Given the description of an element on the screen output the (x, y) to click on. 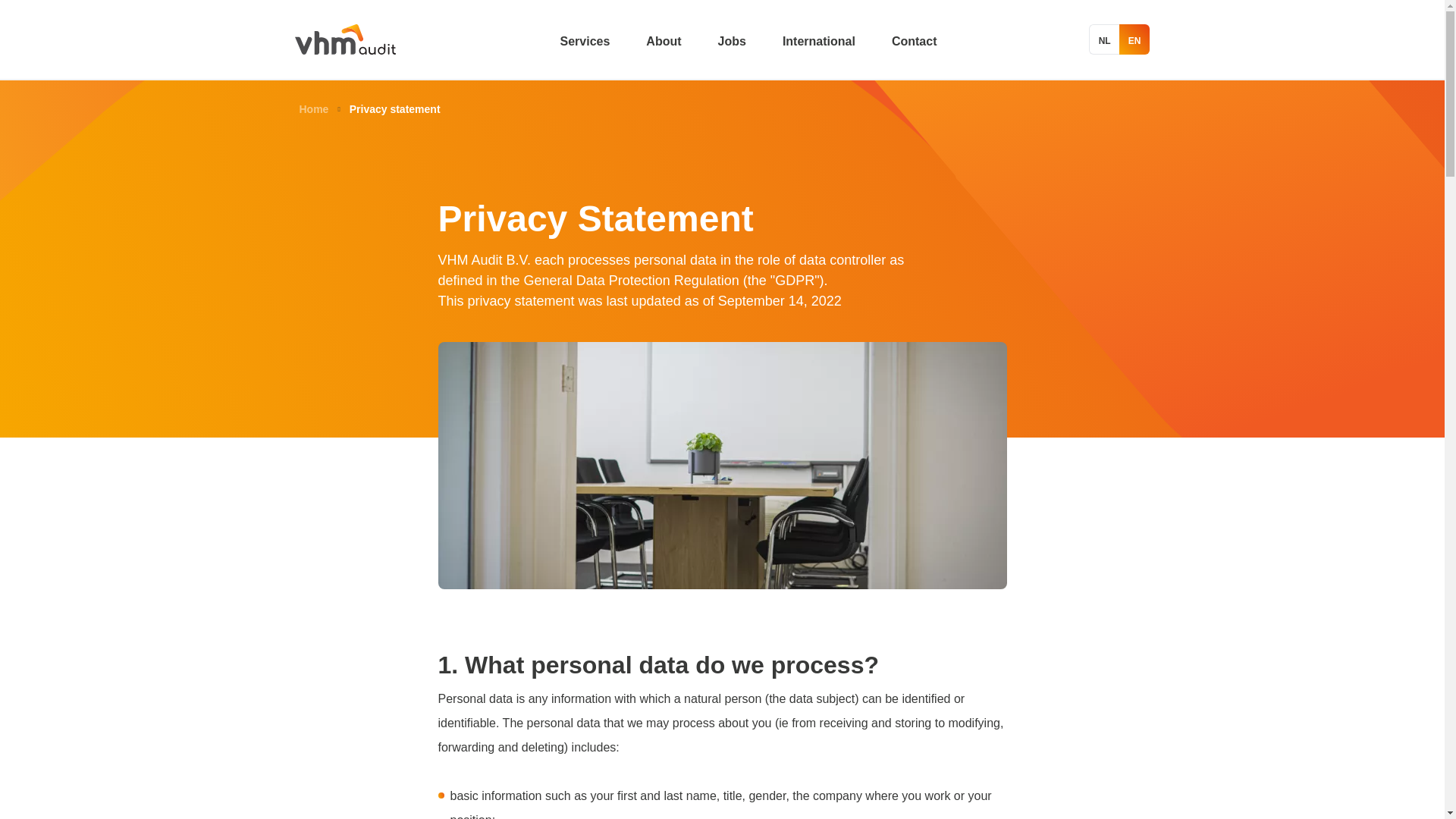
International (819, 41)
Terug naar de homepagina van English (313, 109)
About (663, 41)
Home (313, 109)
Contact (914, 41)
EN (1134, 39)
Services (584, 41)
Jobs (731, 41)
NL (1104, 39)
